Given the description of an element on the screen output the (x, y) to click on. 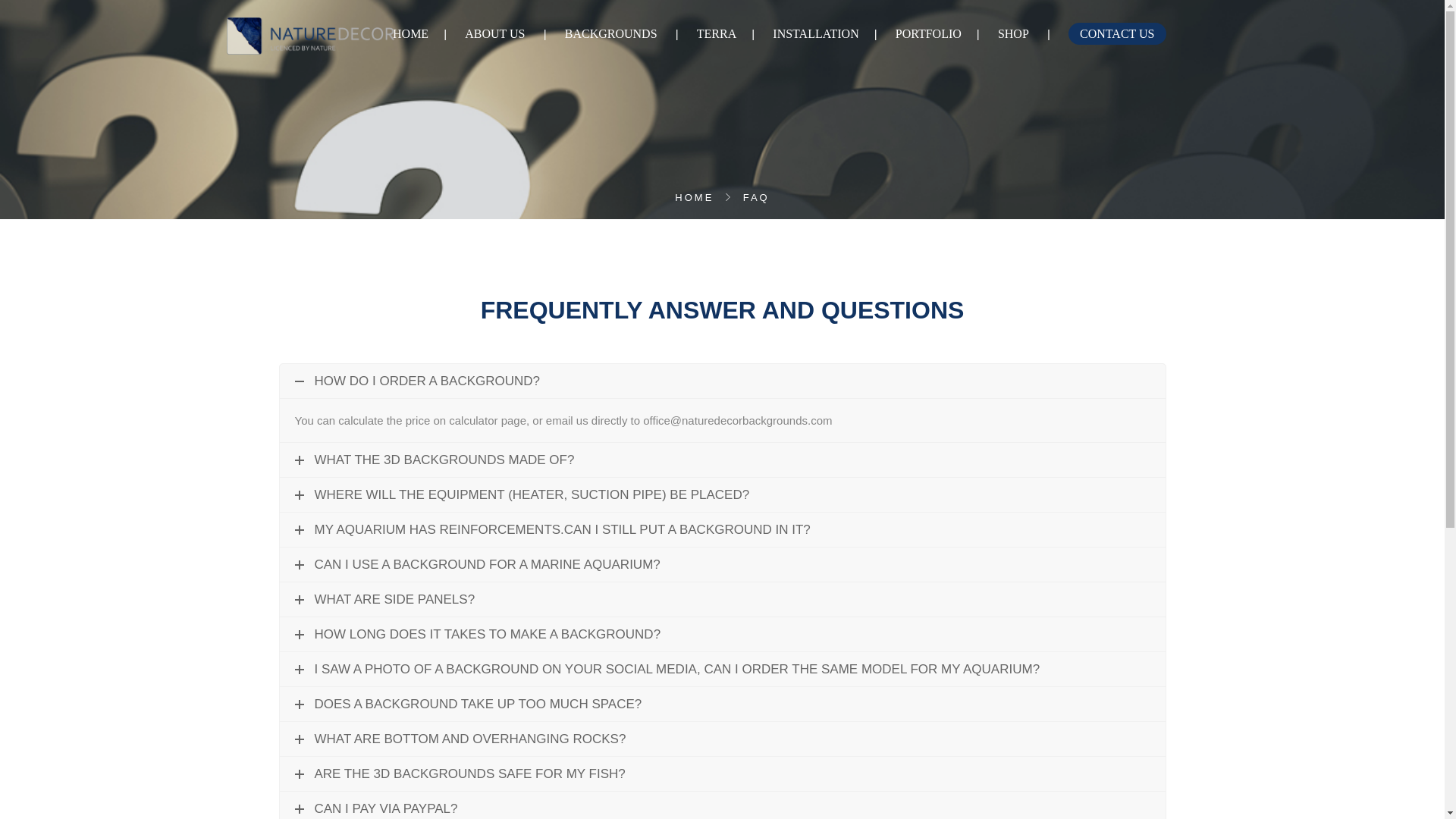
ABOUT US (494, 33)
SHOP (1013, 33)
TERRA (716, 33)
PORTFOLIO (927, 33)
HOME (410, 33)
INSTALLATION (816, 33)
BACKGROUNDS (611, 33)
